Given the description of an element on the screen output the (x, y) to click on. 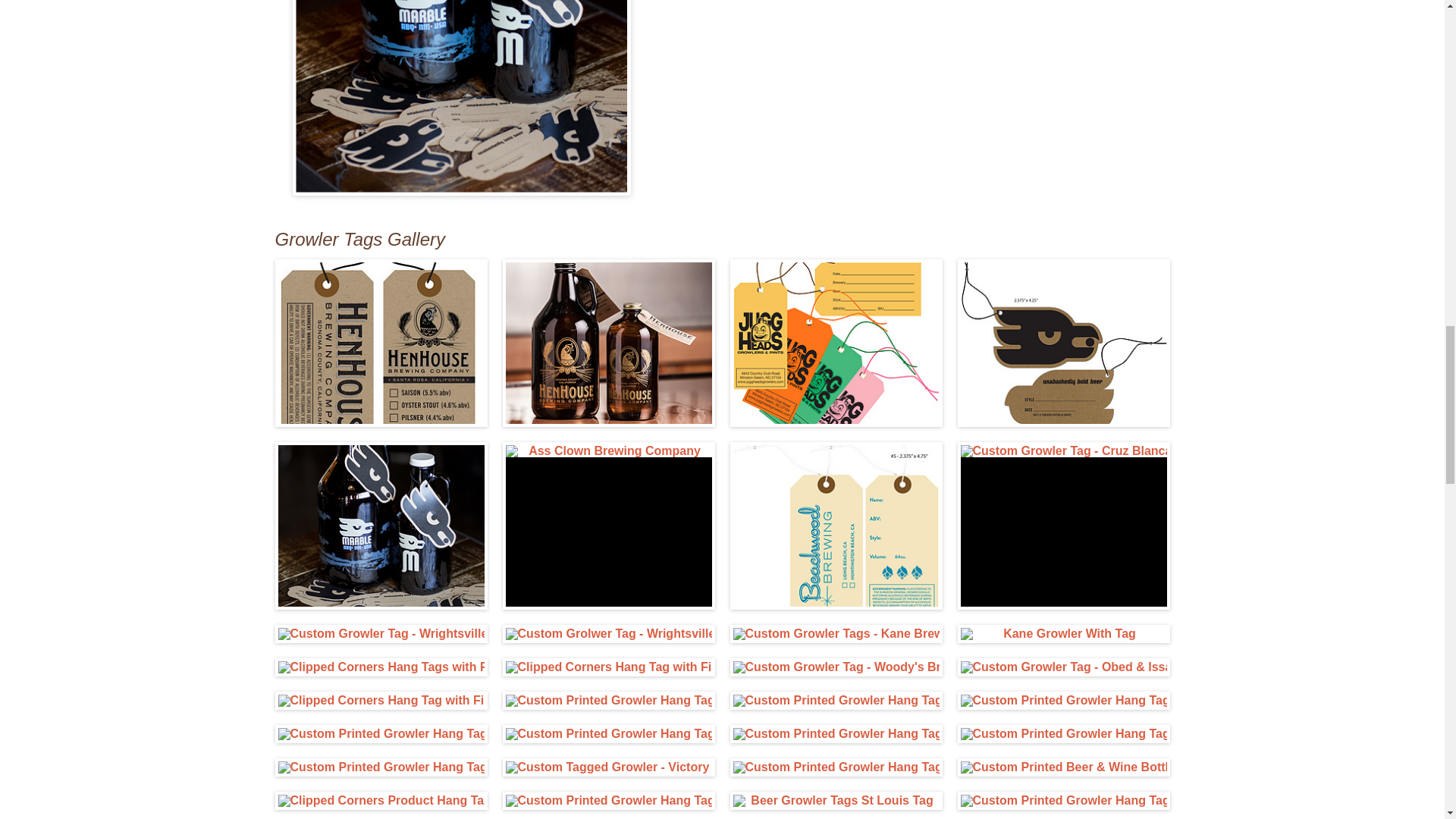
Tagged Growlers - Hen House Brewing Company (608, 343)
Custom Printed Growler Hang Tag - HenHouse Brewing Co. (380, 343)
Custom Growler Tag - Beachwood Brewing (835, 525)
Custom Printed Growler Hang Tag - Ass Clown Brewing Co (608, 451)
Custom Growler Tag - Marble Brewery (1062, 343)
Marble Brewery Growler Tags (380, 525)
